Given the description of an element on the screen output the (x, y) to click on. 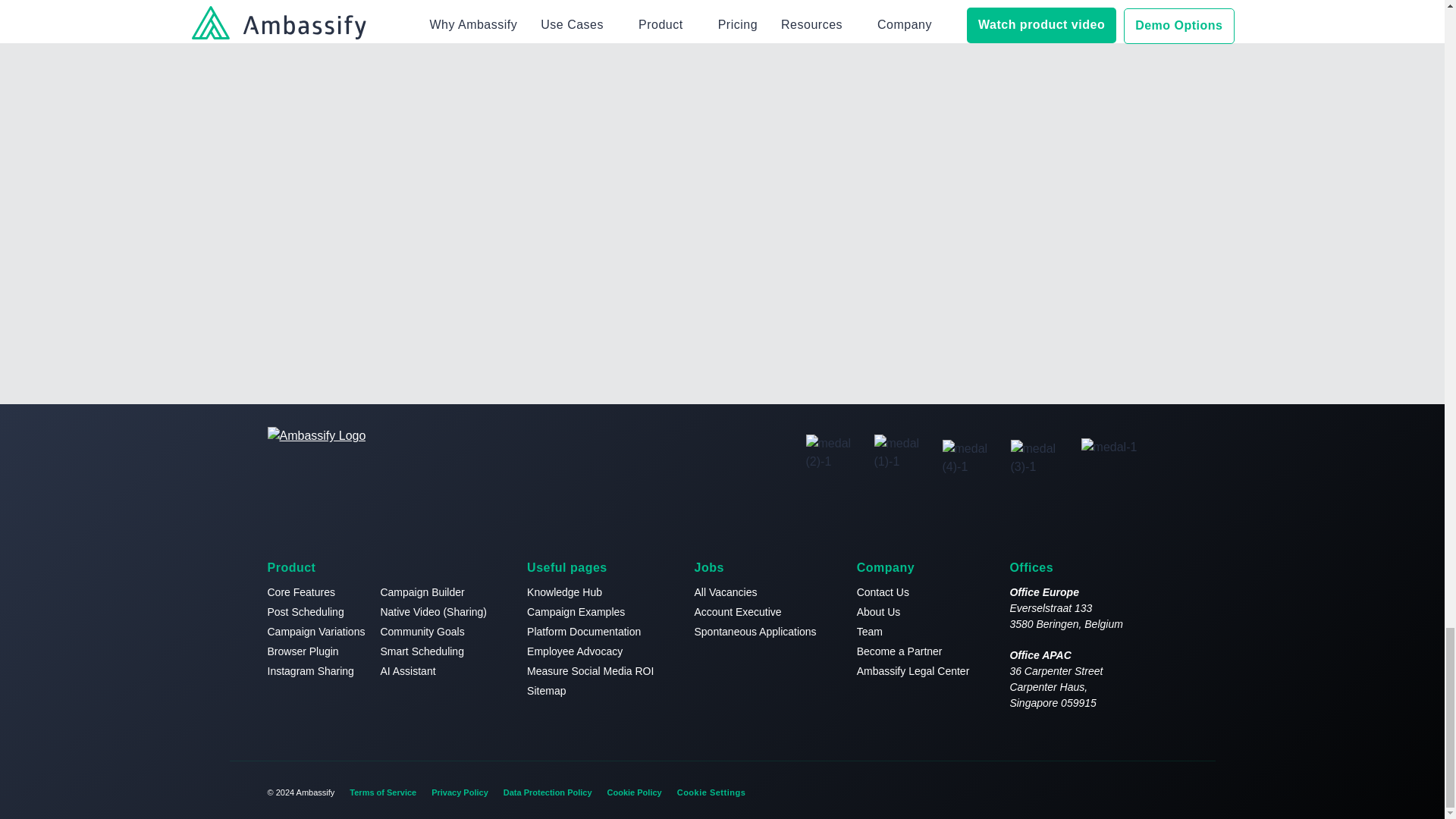
Visit our Ambassify Facebook page (1104, 789)
Visit our Ambassify Twitter page (1134, 789)
Visit our Ambassify LinkedIn page (1164, 789)
